Given the description of an element on the screen output the (x, y) to click on. 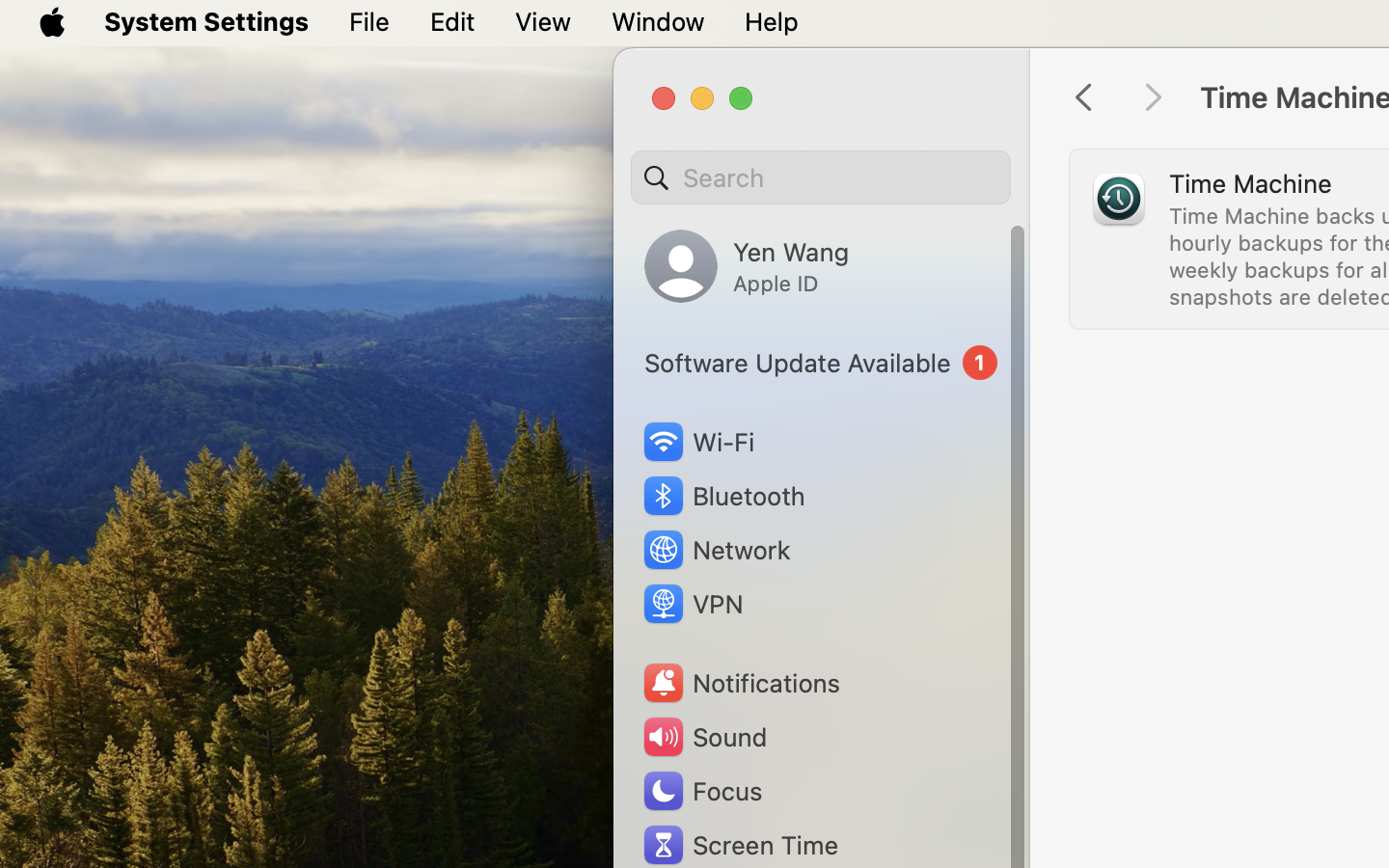
Network Element type: AXStaticText (715, 549)
Wi‑Fi Element type: AXStaticText (697, 441)
Sound Element type: AXStaticText (703, 736)
Yen Wang, Apple ID Element type: AXStaticText (746, 265)
1 Element type: AXStaticText (820, 362)
